Given the description of an element on the screen output the (x, y) to click on. 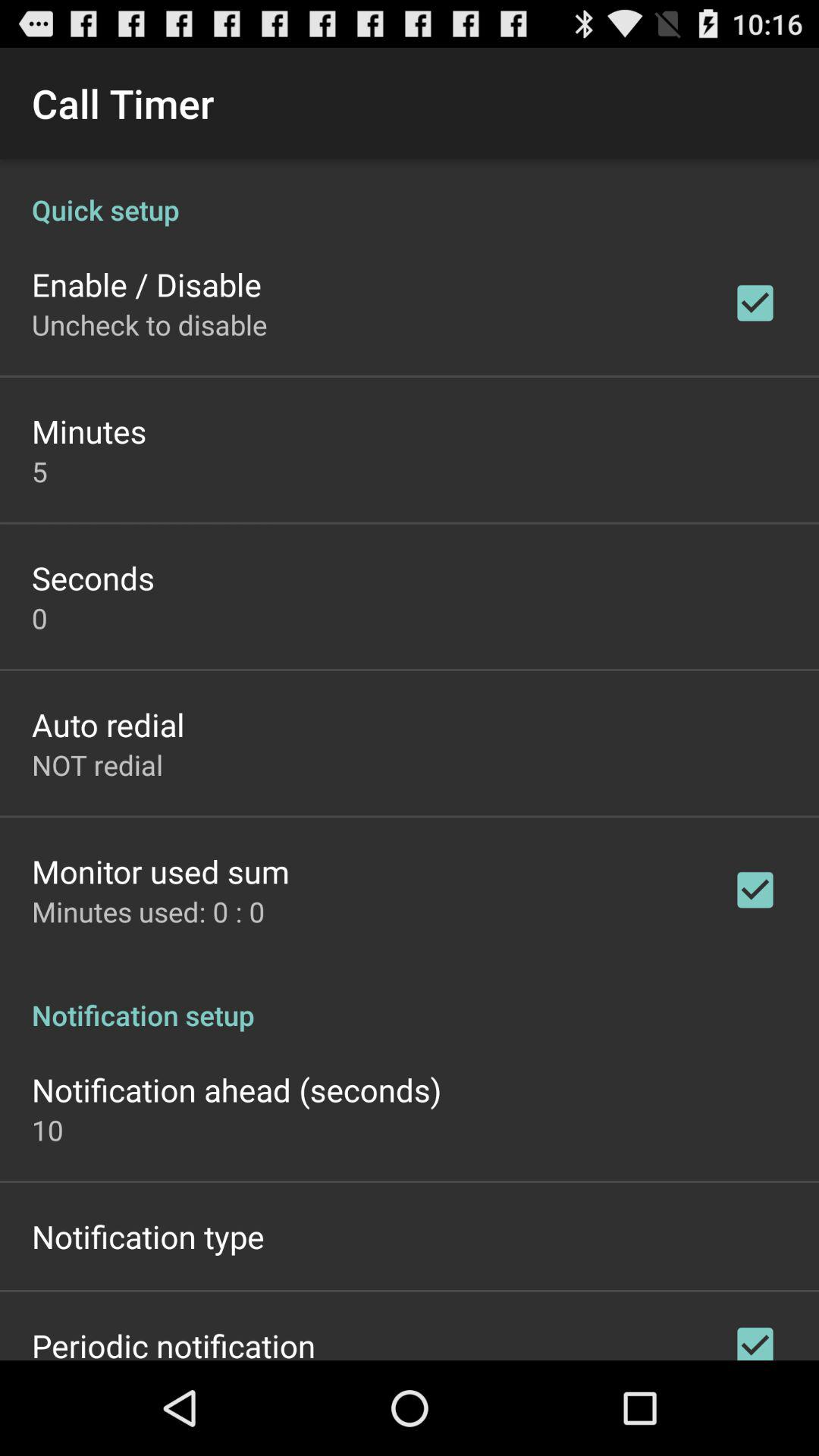
swipe to uncheck to disable item (149, 324)
